Given the description of an element on the screen output the (x, y) to click on. 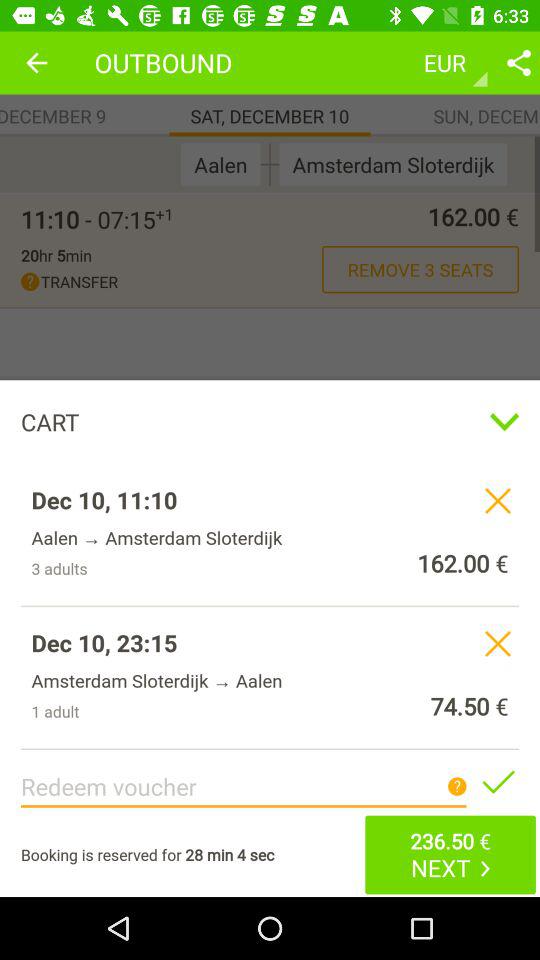
click to share option (519, 62)
